Given the description of an element on the screen output the (x, y) to click on. 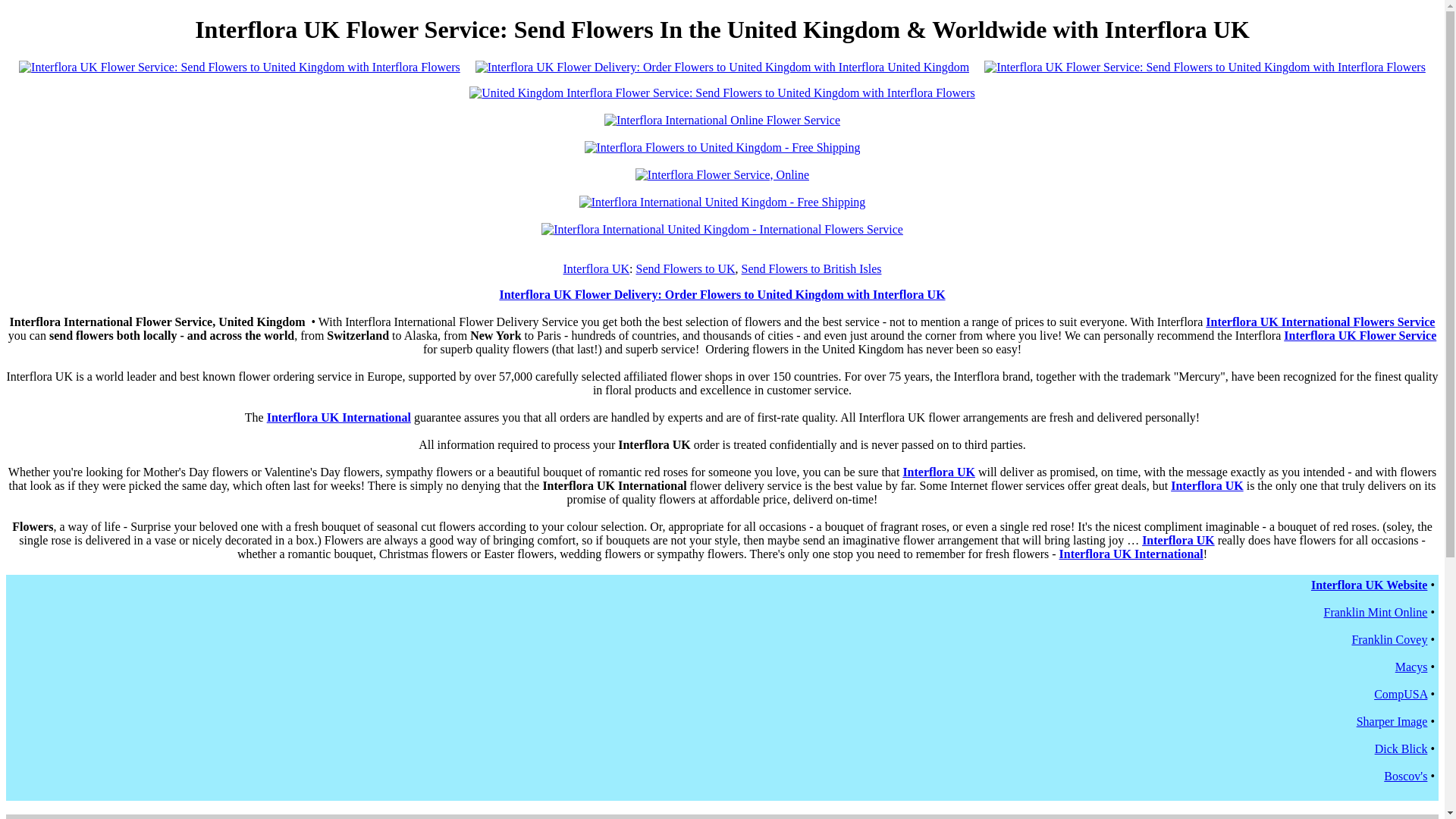
Interflora International (1368, 584)
Franklin Covey (1388, 639)
Franklin Mint Online (1375, 612)
Franklin Mint Online Store (1375, 612)
Interflora UK International (1131, 553)
Dick Blick (1401, 748)
Interflora UK Flowers Service (721, 294)
CompUSA (1400, 694)
Send Flowers to British Isles (811, 268)
